Given the description of an element on the screen output the (x, y) to click on. 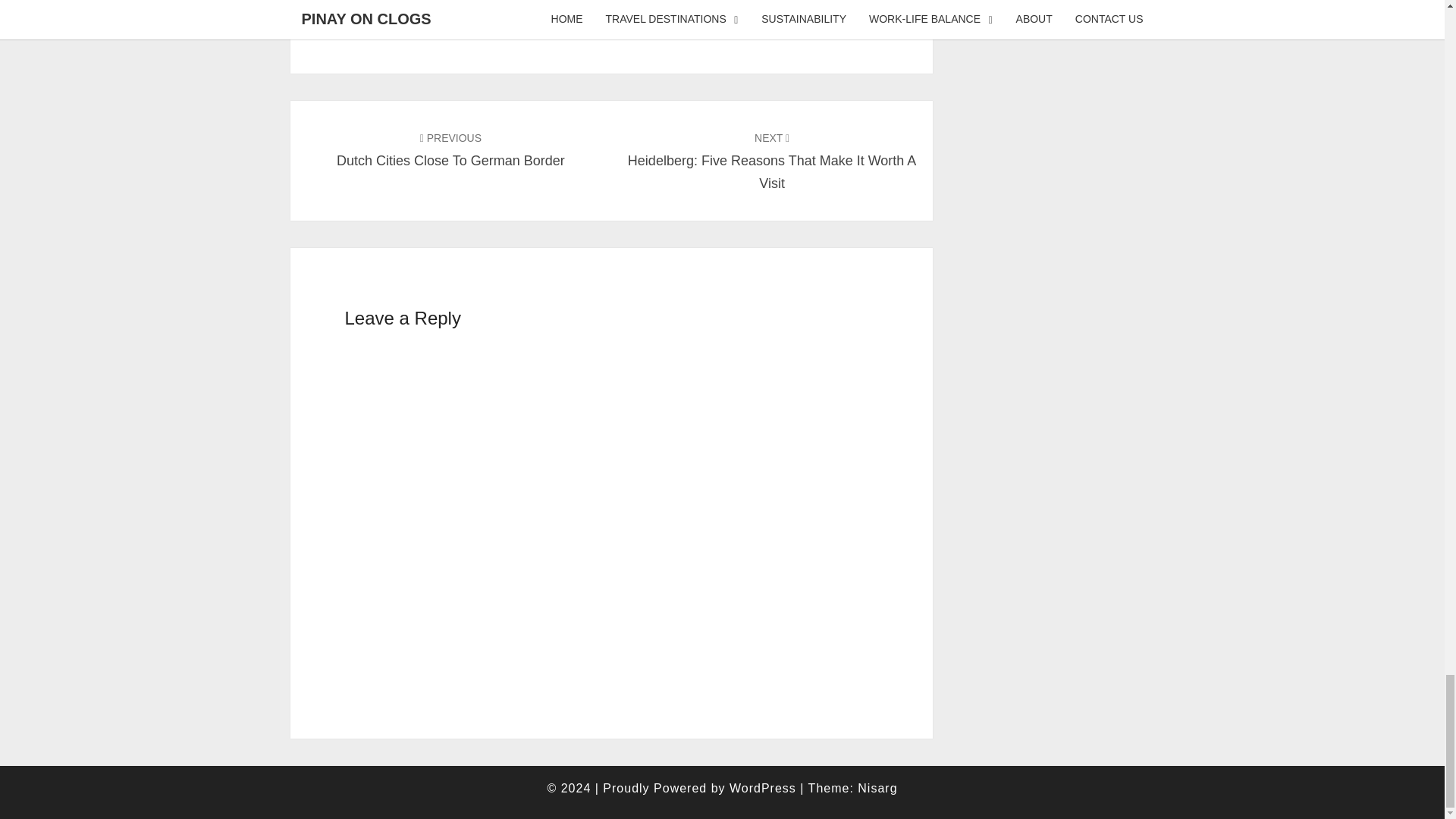
The Netherlands (738, 28)
Border (653, 6)
Europe (376, 6)
Europe (706, 6)
Germany (650, 28)
Travel Destinations (468, 6)
German Cities (782, 6)
